Given the description of an element on the screen output the (x, y) to click on. 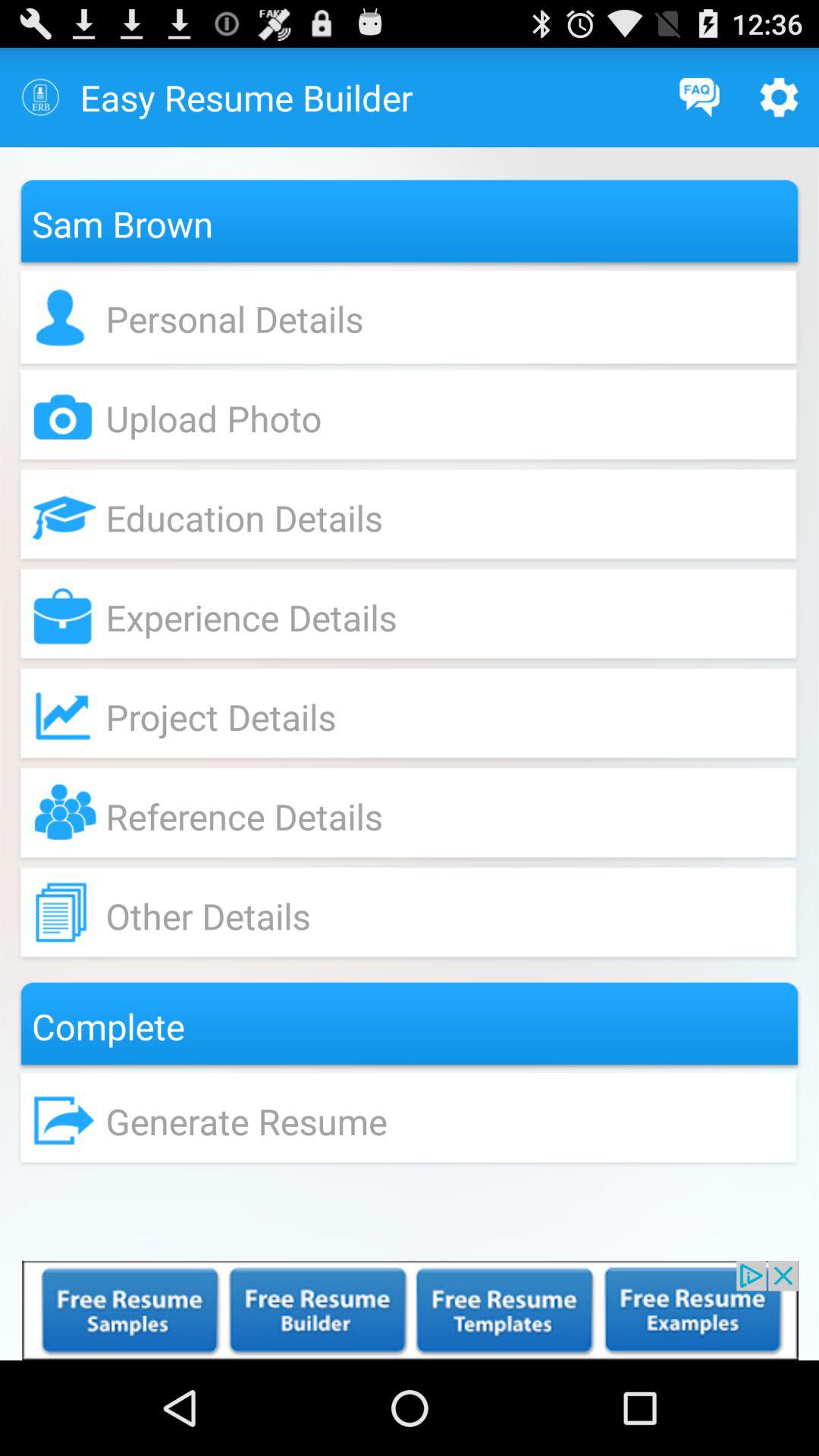
display advertisement (409, 1310)
